Given the description of an element on the screen output the (x, y) to click on. 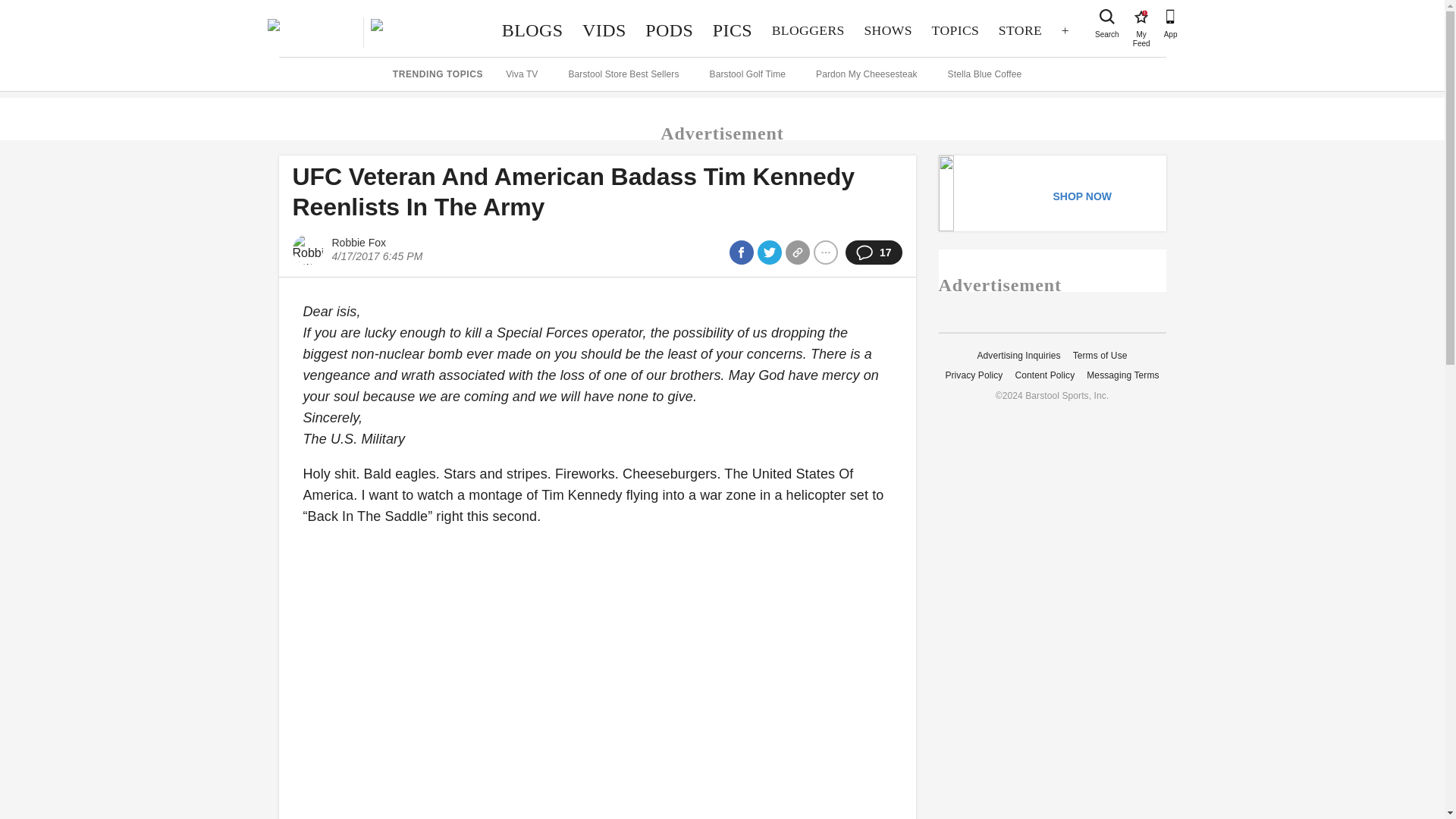
SHOWS (887, 30)
BLOGGERS (807, 30)
TOPICS (954, 30)
VIDS (603, 30)
PODS (668, 30)
Search (1107, 16)
STORE (1019, 30)
PICS (1141, 16)
BLOGS (732, 30)
